Given the description of an element on the screen output the (x, y) to click on. 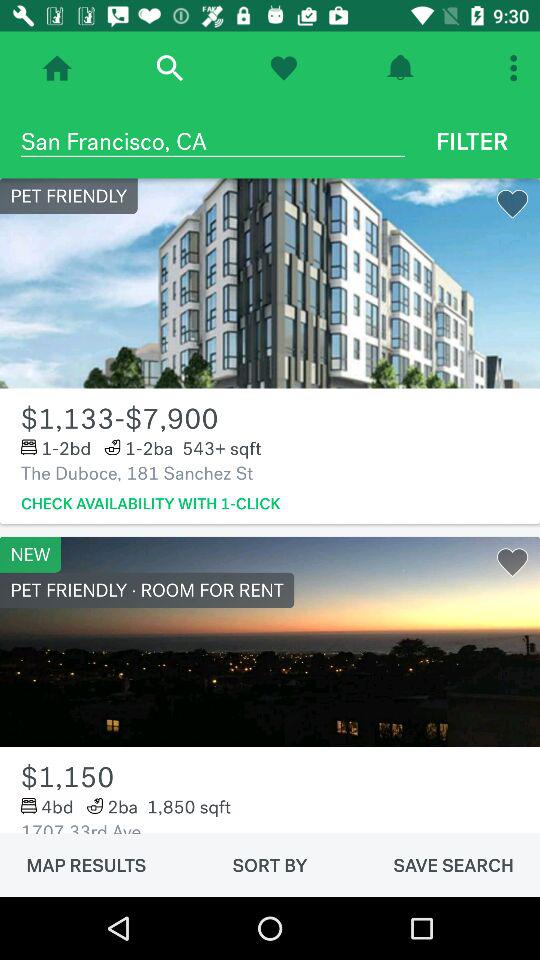
go home (57, 68)
